Given the description of an element on the screen output the (x, y) to click on. 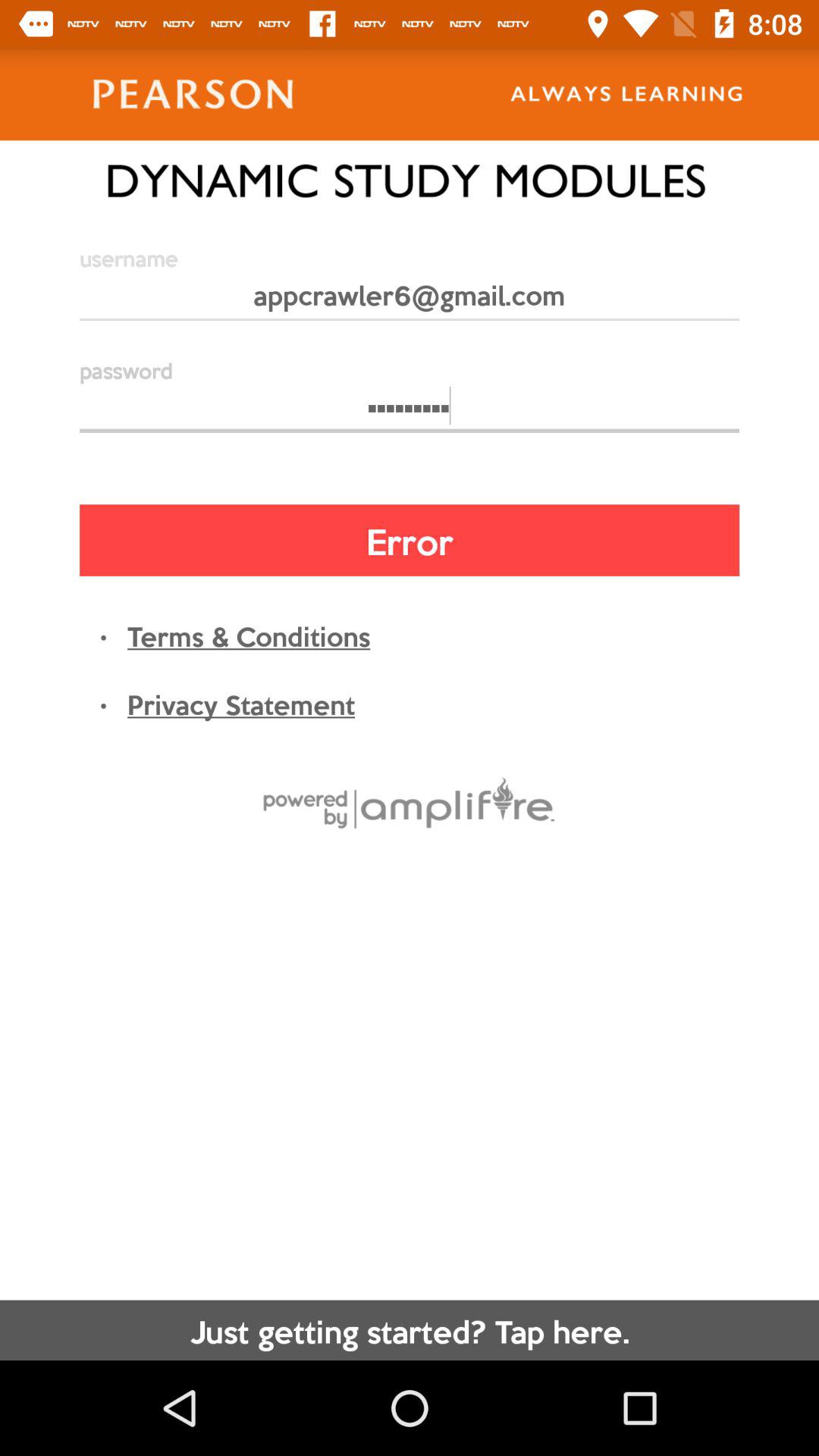
select icon above the crowd3116 icon (409, 301)
